Given the description of an element on the screen output the (x, y) to click on. 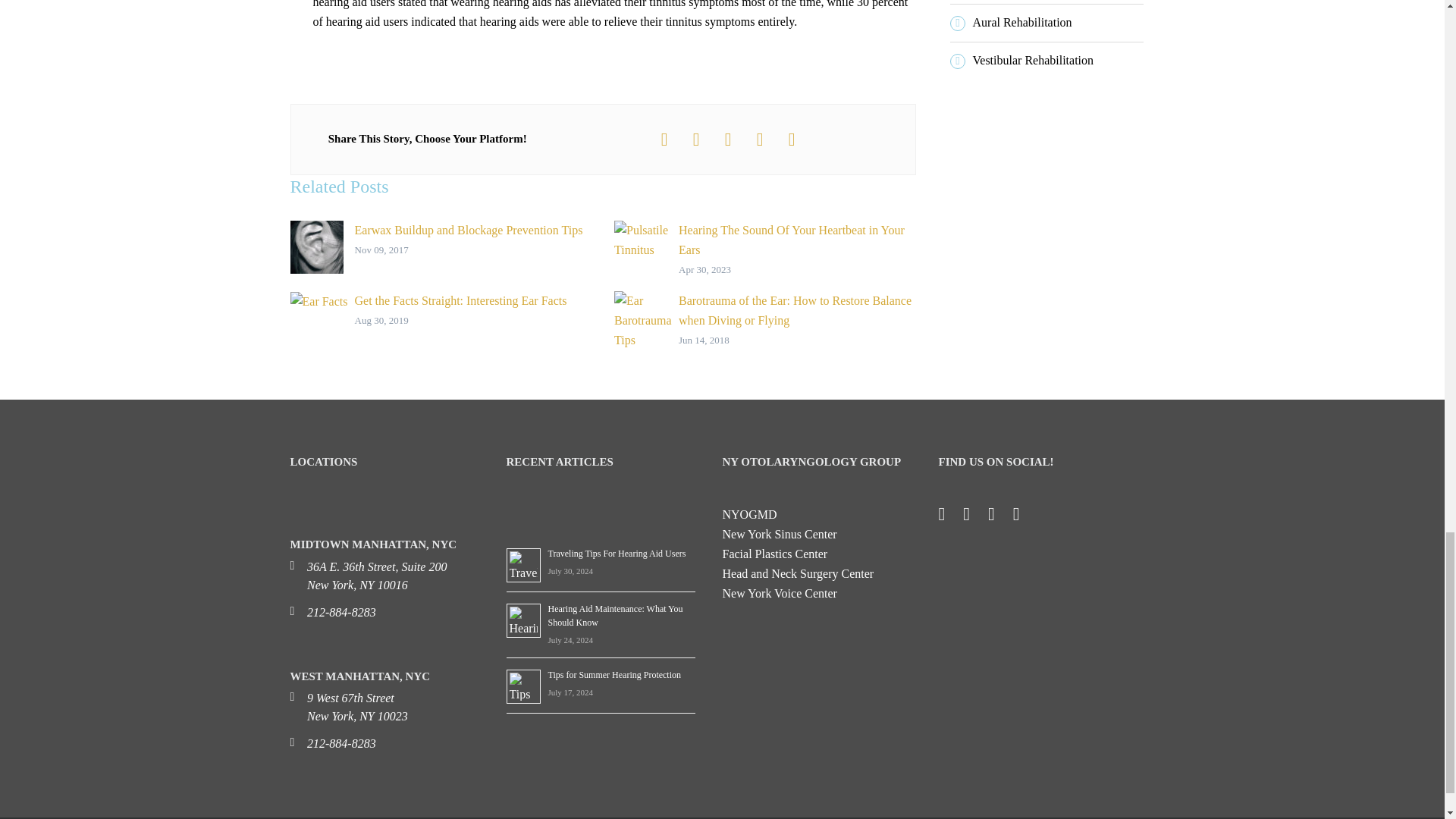
Earwax Buildup and Blockage Prevention Tips (440, 246)
Get the Facts Straight: Interesting Ear Facts (440, 310)
Youtube (1024, 516)
Hearing The Sound Of Your Heartbeat in Your Ears (764, 250)
Twitter (973, 516)
Linkedin (999, 516)
Facebook (949, 516)
